Given the description of an element on the screen output the (x, y) to click on. 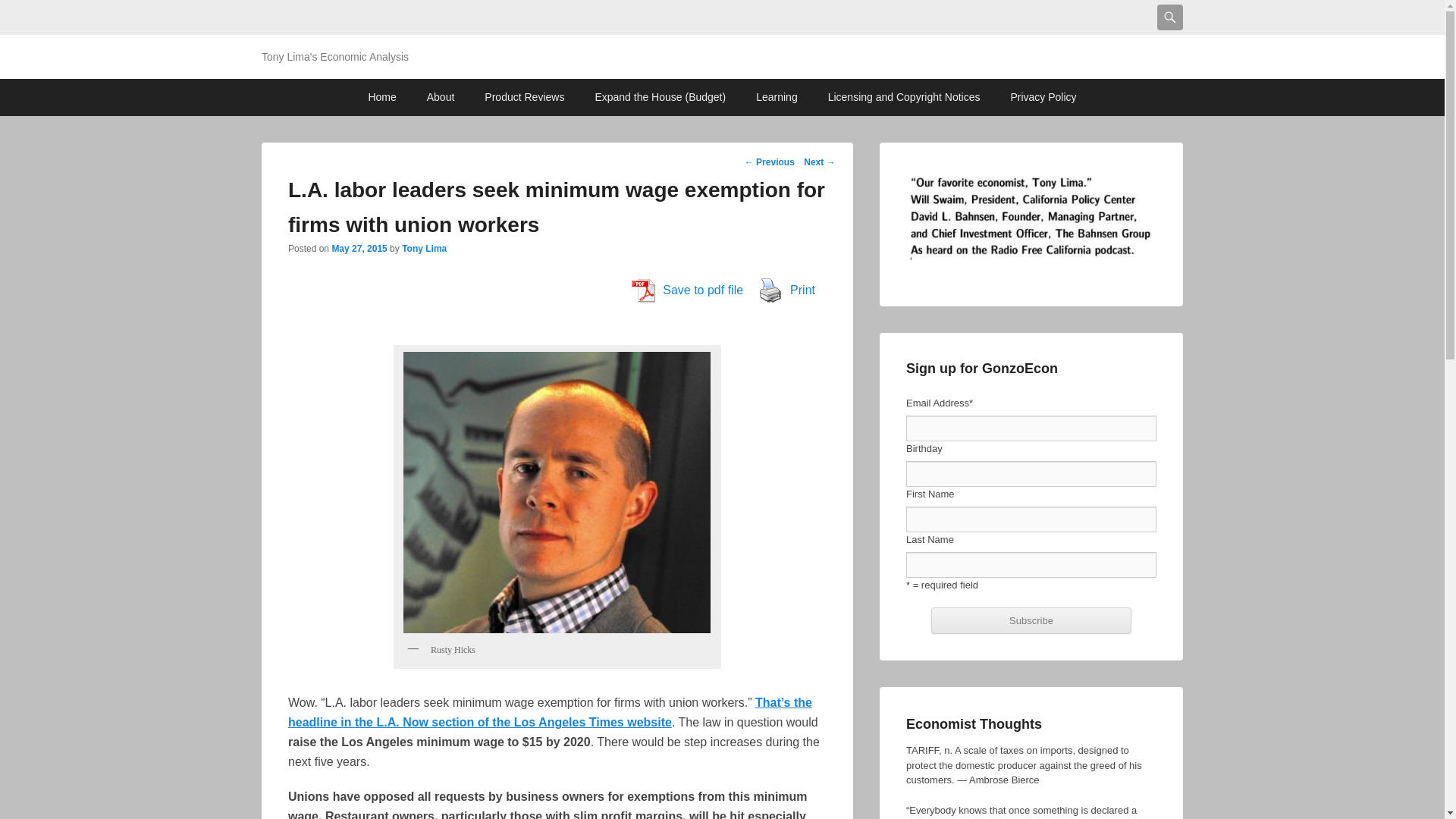
Privacy Policy (1042, 97)
Product Reviews (523, 97)
View all posts by Tony Lima (423, 248)
1:06 pm (359, 248)
Subscribe (1031, 620)
About (441, 97)
Licensing and Copyright Notices (903, 97)
Save to pdf file (687, 290)
May 27, 2015 (359, 248)
Learning (776, 97)
Print Content (770, 290)
View PDF (643, 290)
Tony Lima (423, 248)
